Given the description of an element on the screen output the (x, y) to click on. 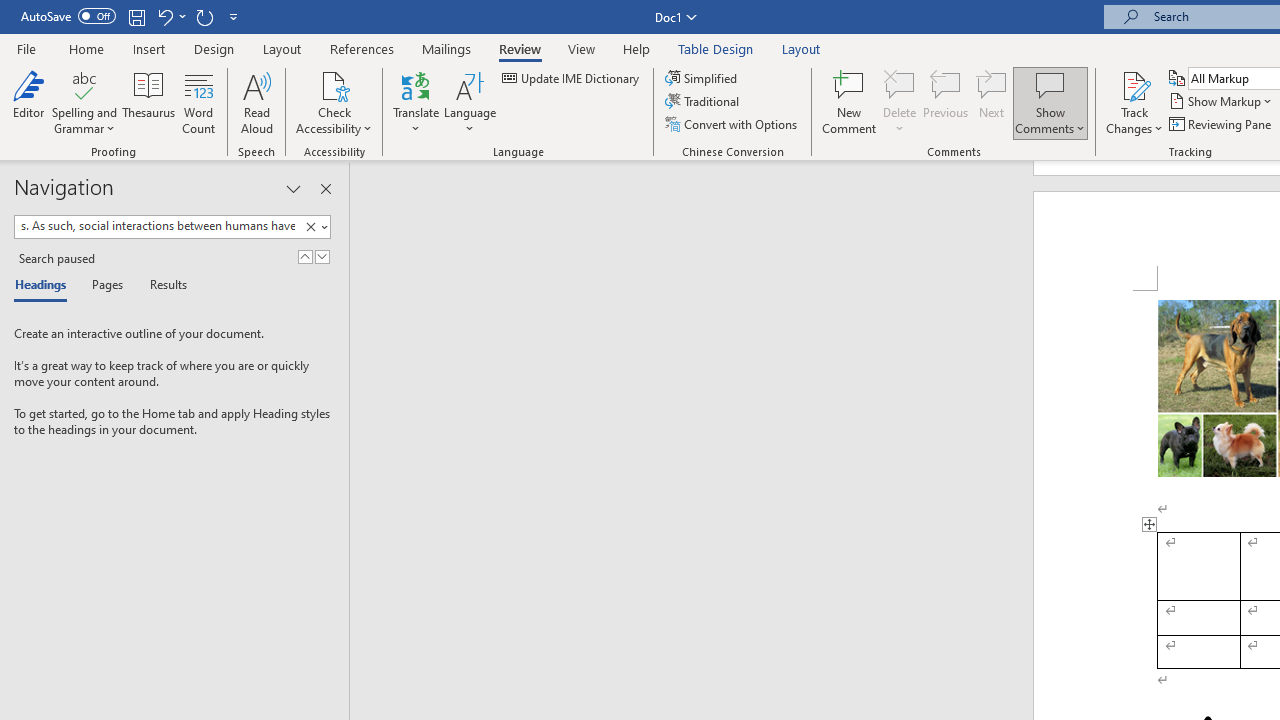
Layout (801, 48)
Spelling and Grammar (84, 84)
Track Changes (1134, 102)
Table Design (715, 48)
Class: NetUIImage (310, 226)
Design (214, 48)
Word Count (198, 102)
Show Markup (1222, 101)
Reviewing Pane (1221, 124)
Read Aloud (256, 102)
Review (520, 48)
Convert with Options... (732, 124)
Spelling and Grammar (84, 102)
New Comment (849, 102)
